Given the description of an element on the screen output the (x, y) to click on. 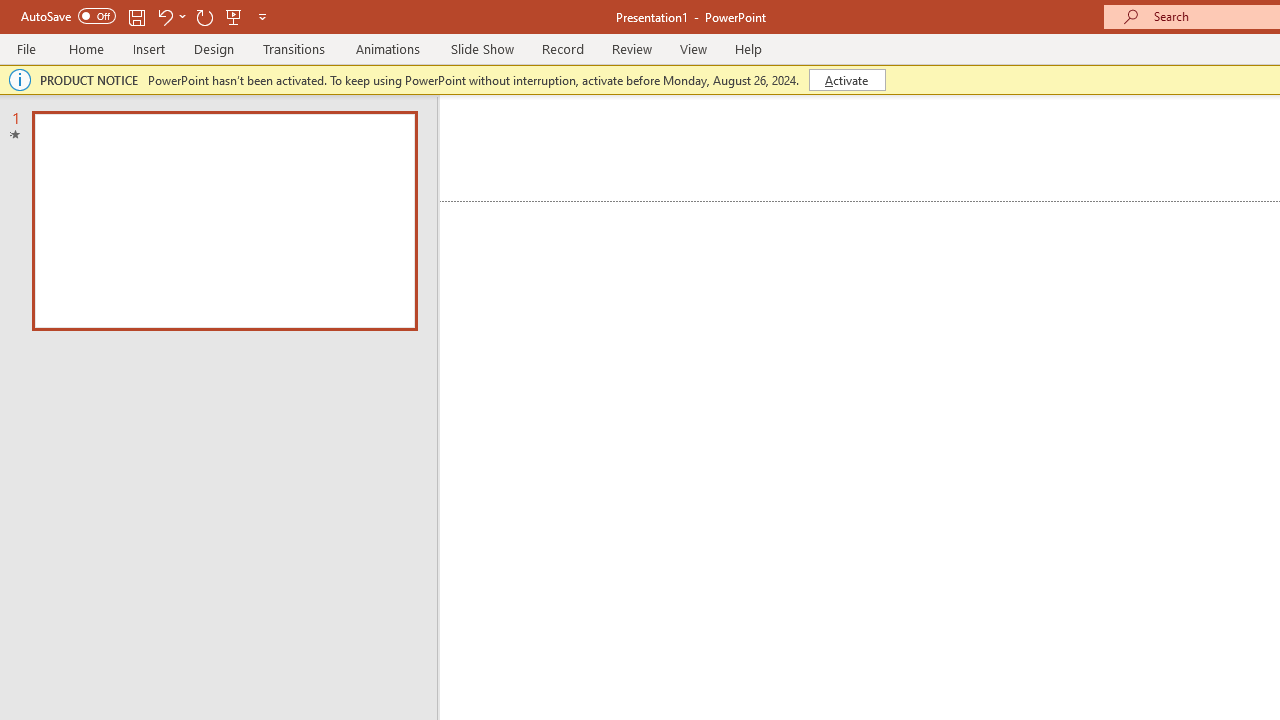
Activate (846, 79)
